Given the description of an element on the screen output the (x, y) to click on. 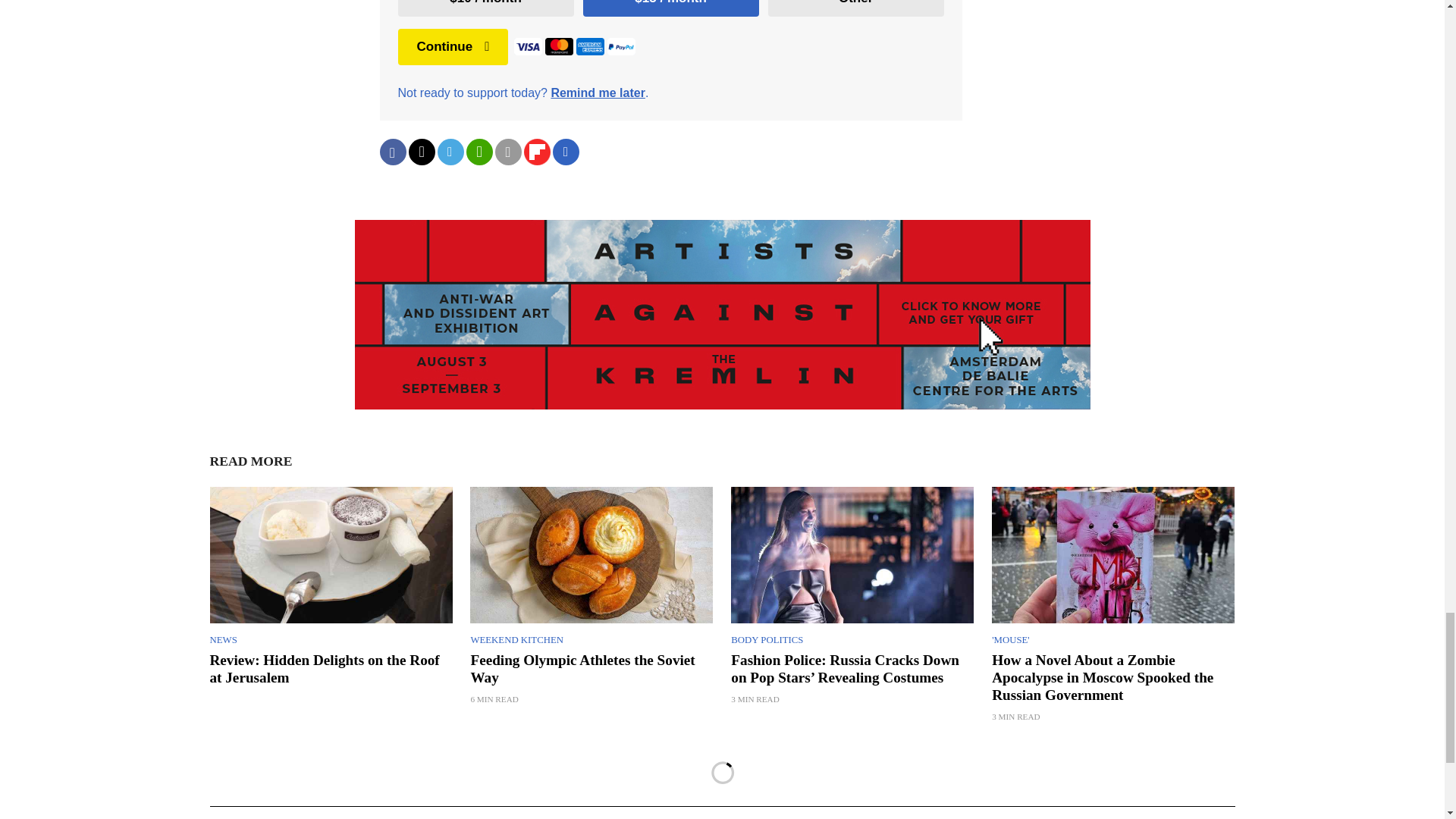
Share on Flipboard (536, 151)
Share on Twitter (420, 151)
Share on Facebook (392, 151)
Share on Telegram (449, 151)
